Given the description of an element on the screen output the (x, y) to click on. 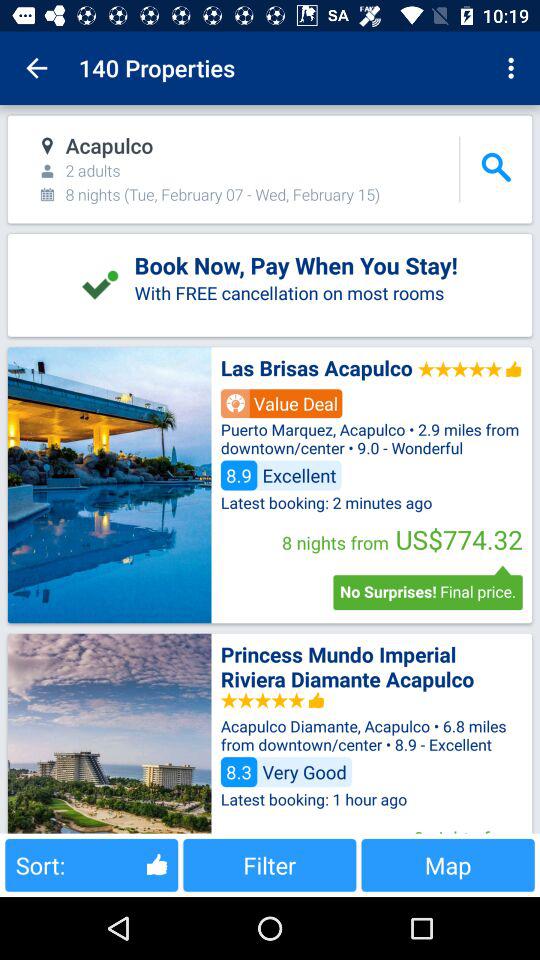
click item to the left of the 140 properties app (36, 68)
